Given the description of an element on the screen output the (x, y) to click on. 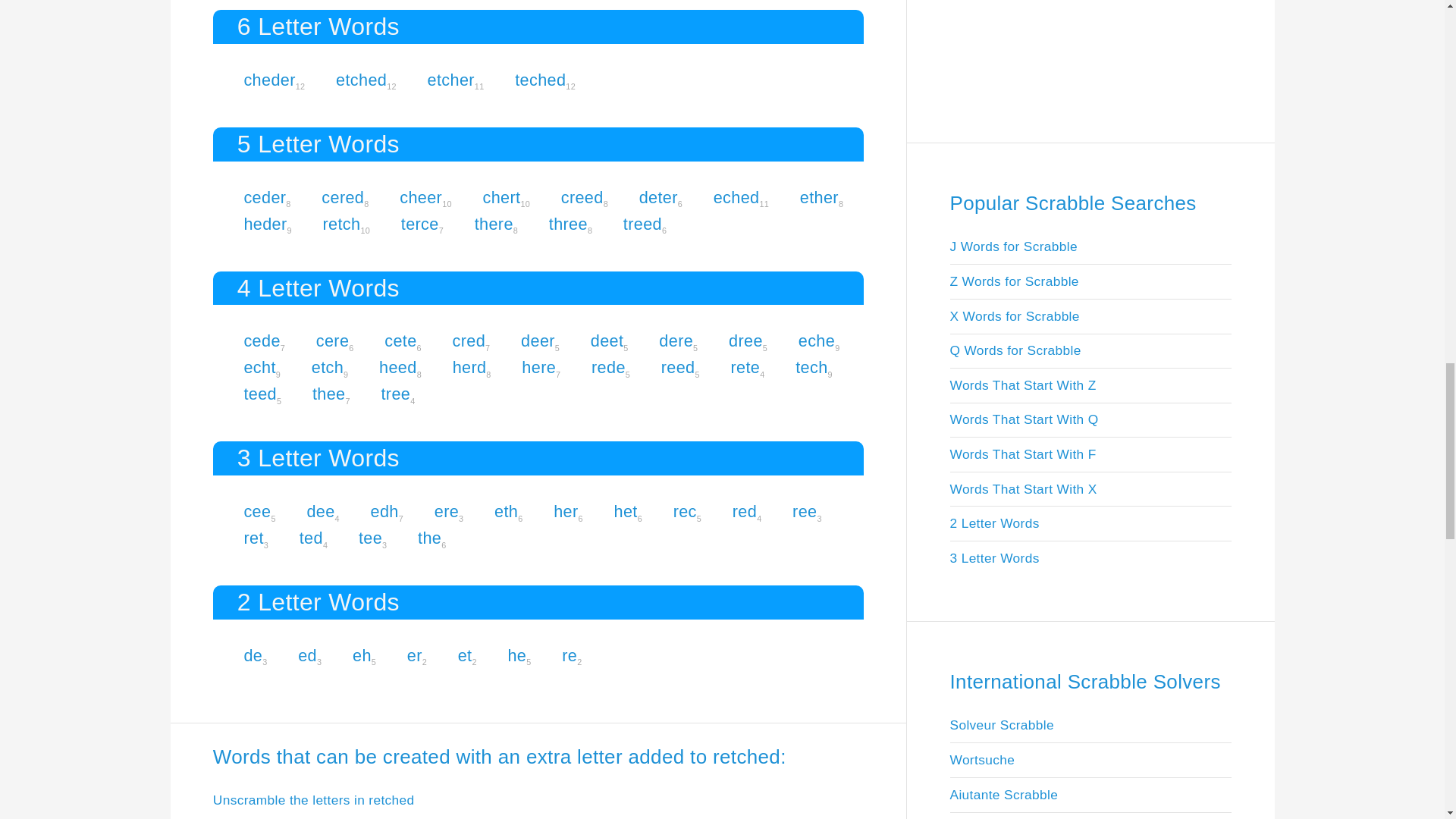
etched (361, 79)
etcher (451, 79)
cheder (269, 79)
cered (342, 197)
ceder (264, 197)
teched (540, 79)
